Given the description of an element on the screen output the (x, y) to click on. 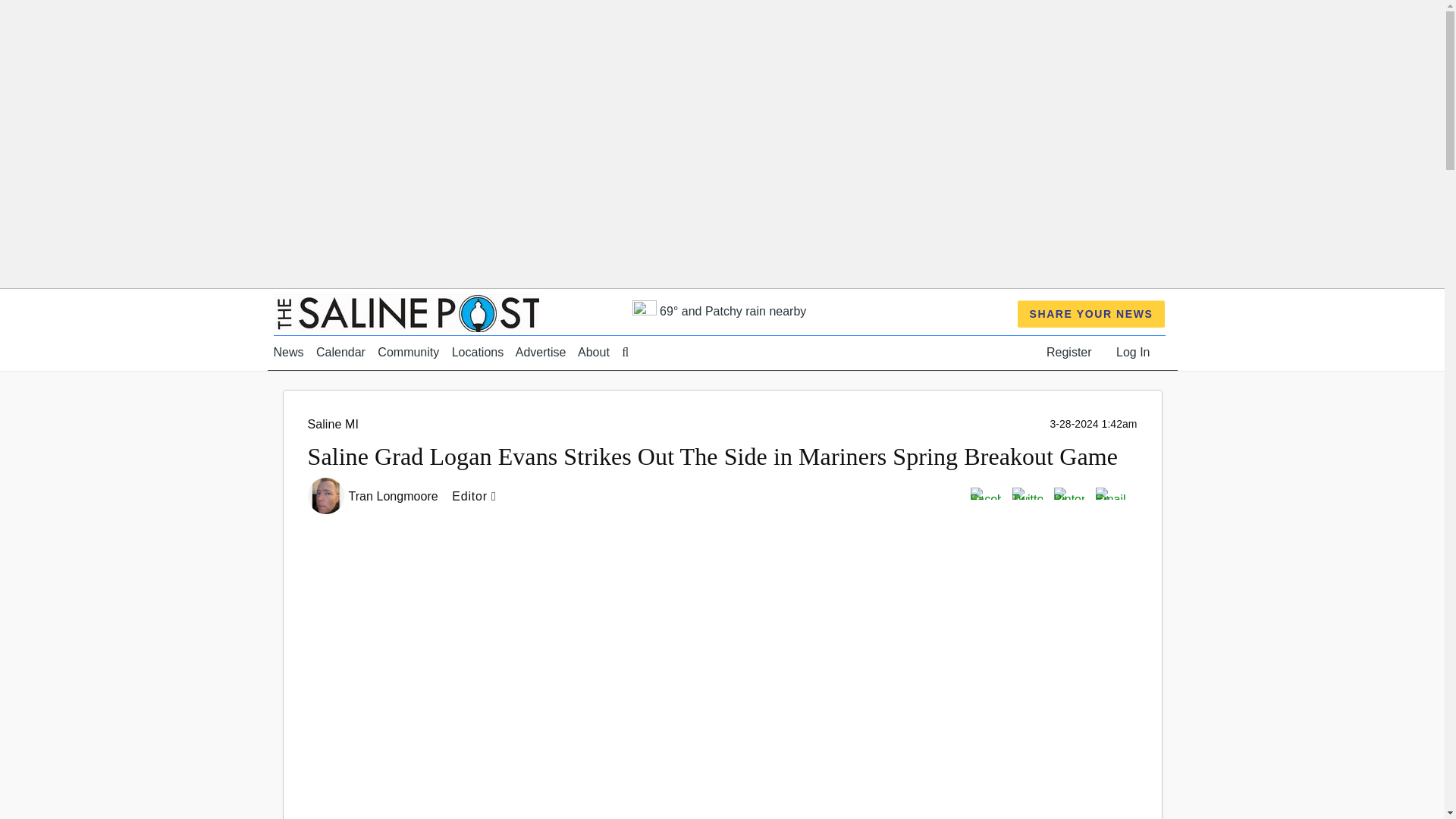
Register (1069, 351)
SHARE YOUR NEWS (1091, 313)
Editor (477, 495)
News (287, 351)
Tran Longmoore (395, 495)
Pinterest (1069, 492)
The Saline Post (405, 311)
Advertise (540, 351)
Calendar (340, 351)
Log In (1132, 351)
Tran Longmoore (395, 495)
About (594, 351)
The Saline Post (405, 313)
Twitter (1026, 492)
Community (408, 351)
